Given the description of an element on the screen output the (x, y) to click on. 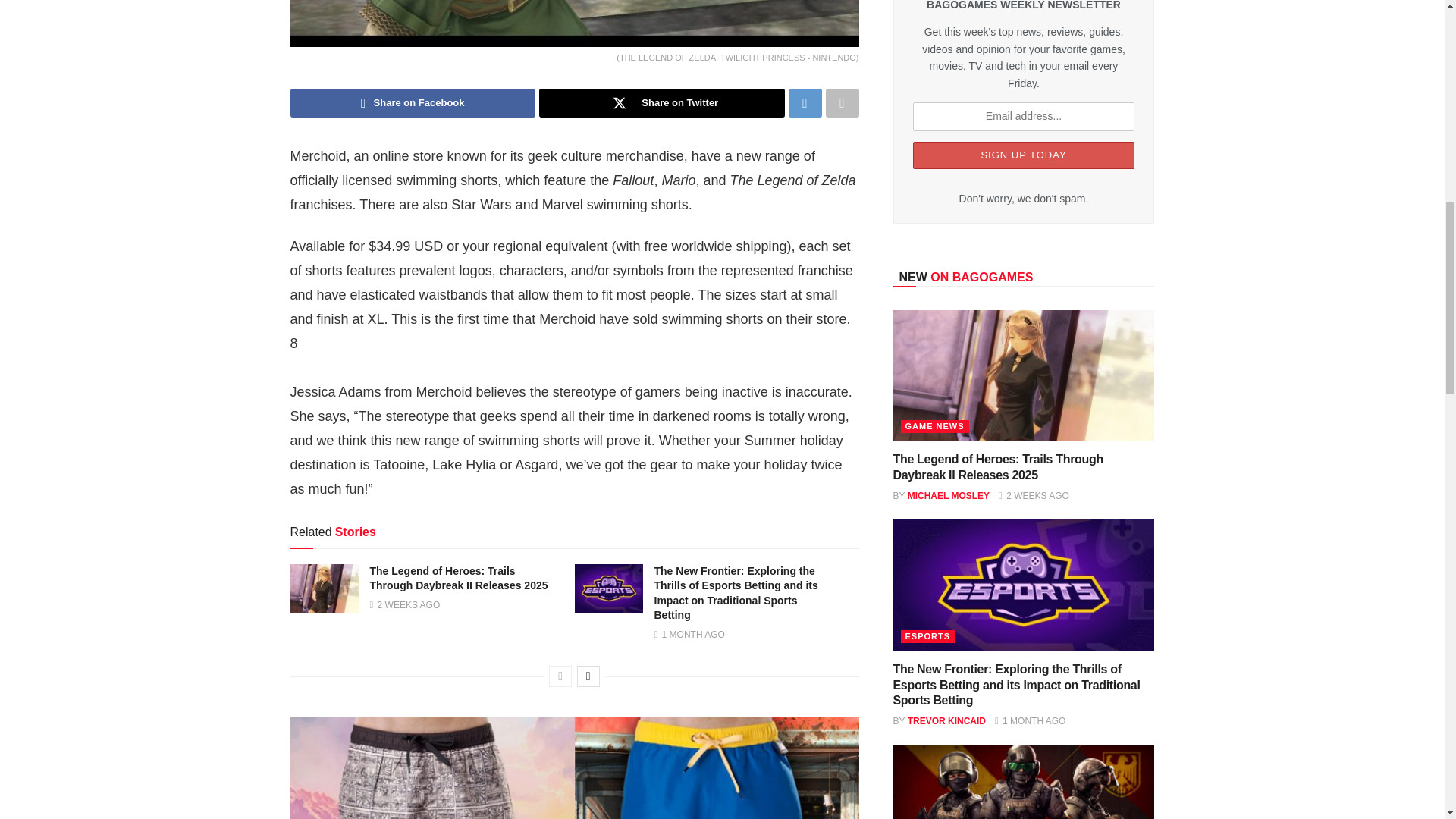
Previous (560, 676)
Sign up today (1023, 155)
Next (587, 676)
